Given the description of an element on the screen output the (x, y) to click on. 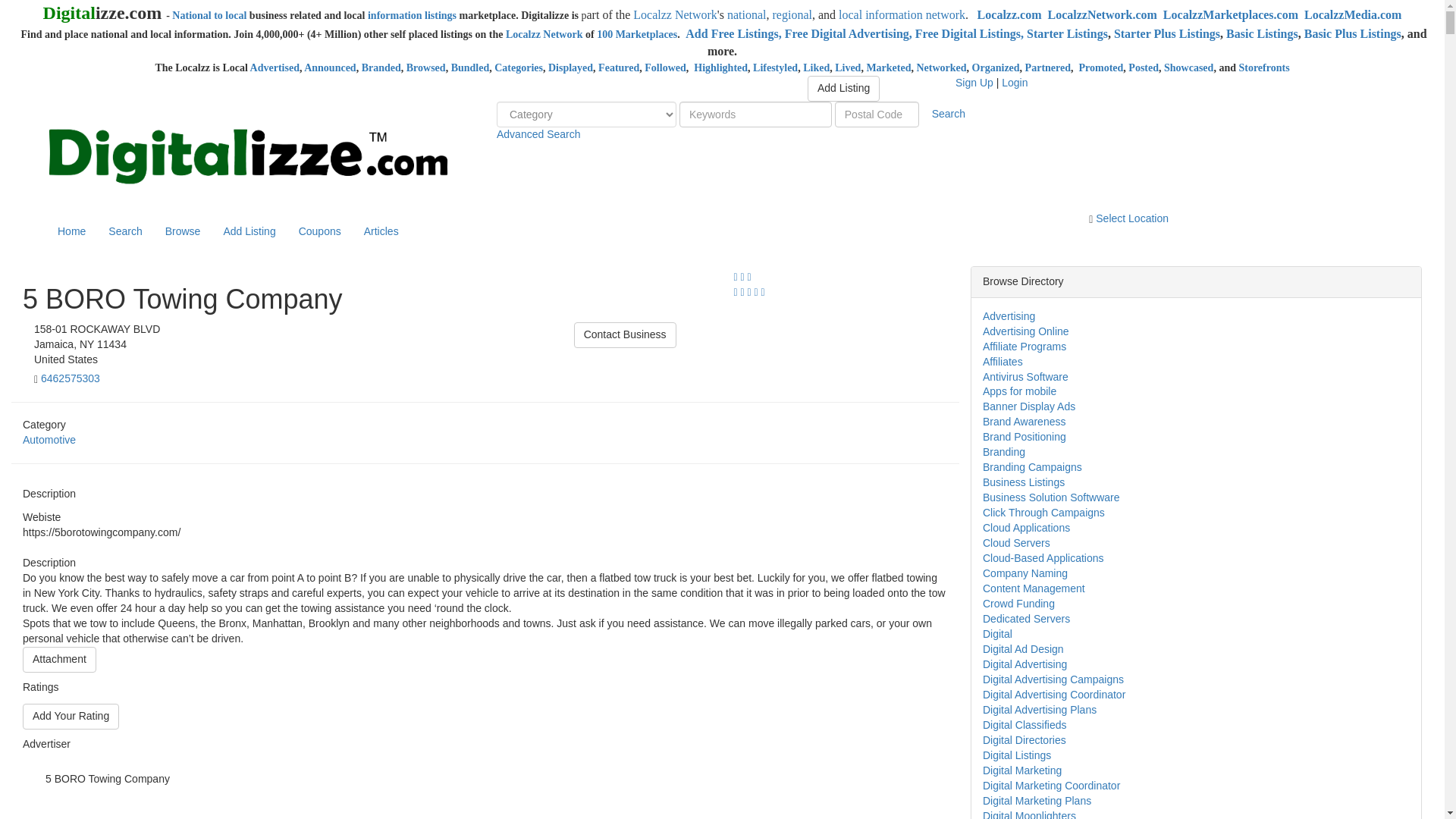
Networked (940, 67)
Featured (618, 67)
Click to Rate (71, 715)
LocalzzMedia.com (1352, 14)
Bundled (470, 67)
Localzz.com (1009, 14)
Partnered (1047, 67)
national (746, 14)
Lifestyled (774, 67)
Organized (996, 67)
Localzz Network (543, 34)
Localzz Network (675, 14)
LocalzzNetwork.com (1101, 14)
 Highlighted (719, 67)
Free Digital Advertising, (849, 33)
